Given the description of an element on the screen output the (x, y) to click on. 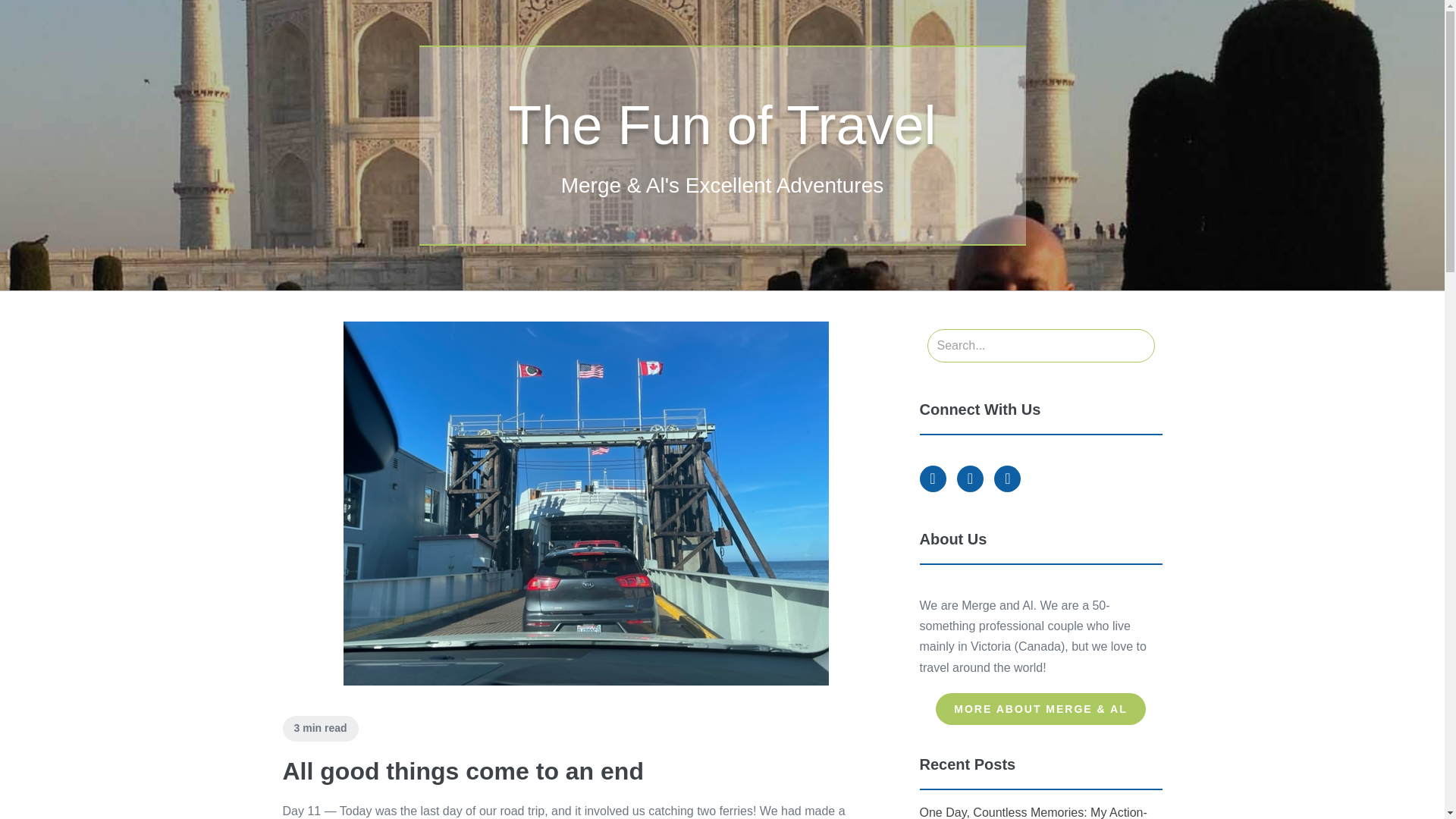
The Fun of Travel (722, 125)
The Fun of Travel (722, 125)
